Given the description of an element on the screen output the (x, y) to click on. 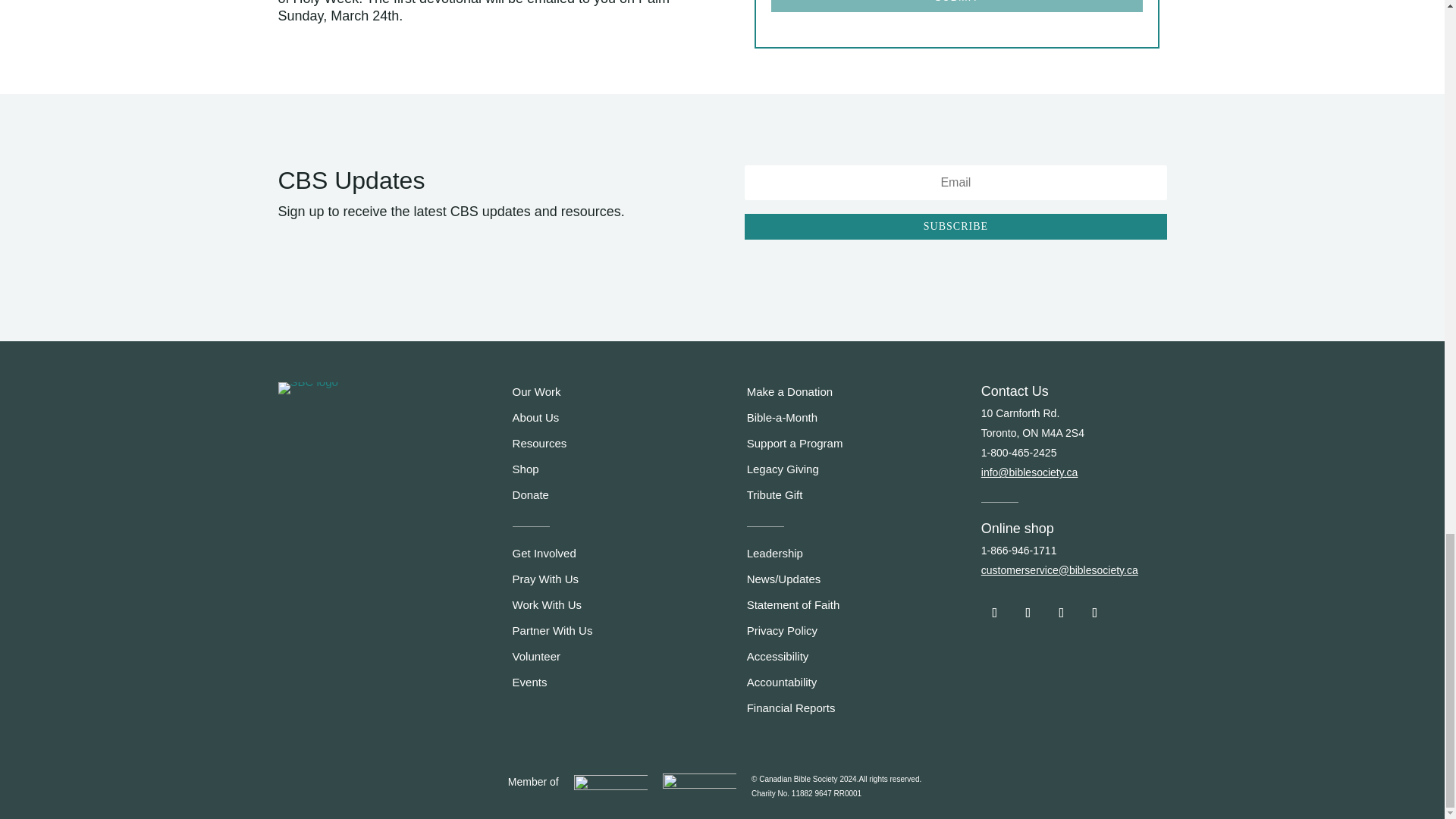
Follow on Facebook (995, 612)
Footer Logo (307, 387)
Image 10 (699, 785)
Events (529, 681)
Submit (956, 6)
Pray With Us (545, 578)
Resources (539, 442)
Follow on Instagram (1061, 612)
Get Involved (544, 553)
Volunteer (536, 656)
